Given the description of an element on the screen output the (x, y) to click on. 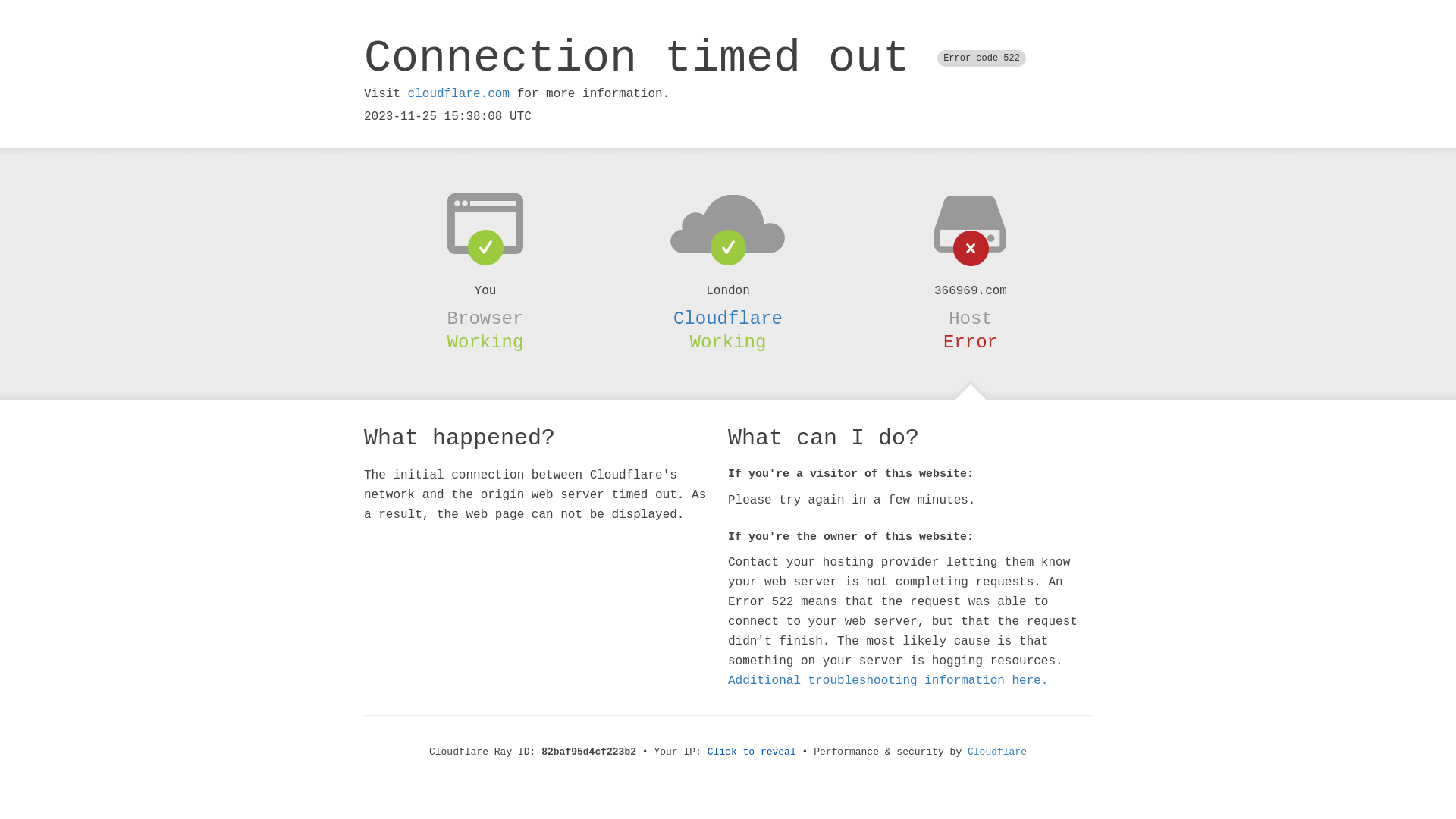
cloudflare.com Element type: text (458, 93)
Click to reveal Element type: text (751, 751)
Cloudflare Element type: text (996, 751)
Additional troubleshooting information here. Element type: text (888, 680)
Cloudflare Element type: text (727, 318)
